Given the description of an element on the screen output the (x, y) to click on. 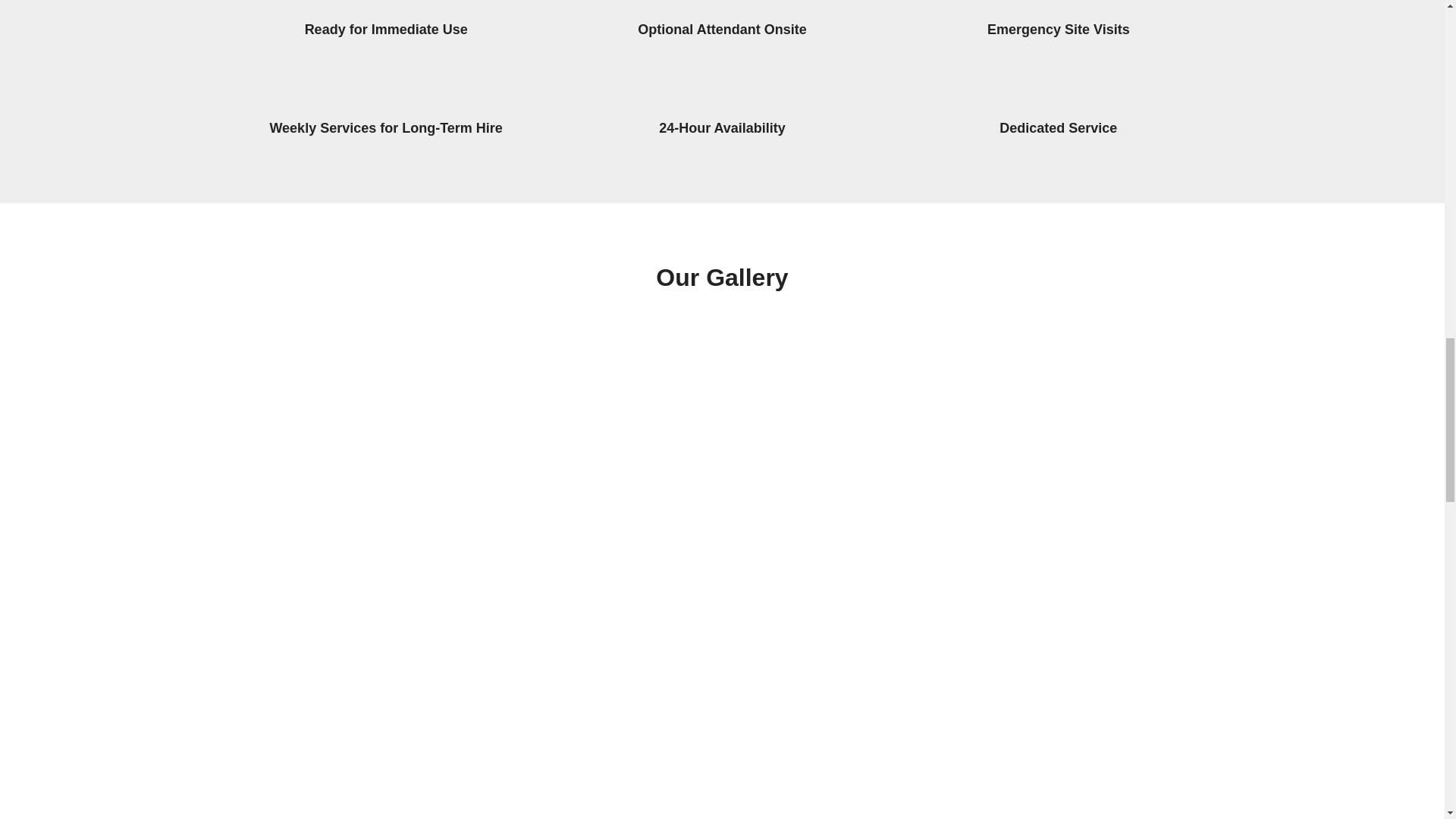
blue-box-hire-gallery-image-16 (855, 759)
blue-box-hire-gallery-image-11 (1107, 408)
blue-box-hire-gallery-image-15 (603, 759)
blue-box-hire-gallery-image-7 (351, 408)
blue-box-hire-gallery-image-1 (351, 597)
blue-box-hire-gallery-image-10 (855, 408)
blue-box-hire-gallery-image-20 (1107, 597)
blue-box-hire-gallery-image-8 (603, 408)
blue-box-hire-gallery-image-3 (603, 597)
blue-box-hire-gallery-image-18 (1107, 759)
blue-box-hire-gallery-image-13 (855, 597)
blue-box-hire-gallery-image-14 (351, 759)
